Given the description of an element on the screen output the (x, y) to click on. 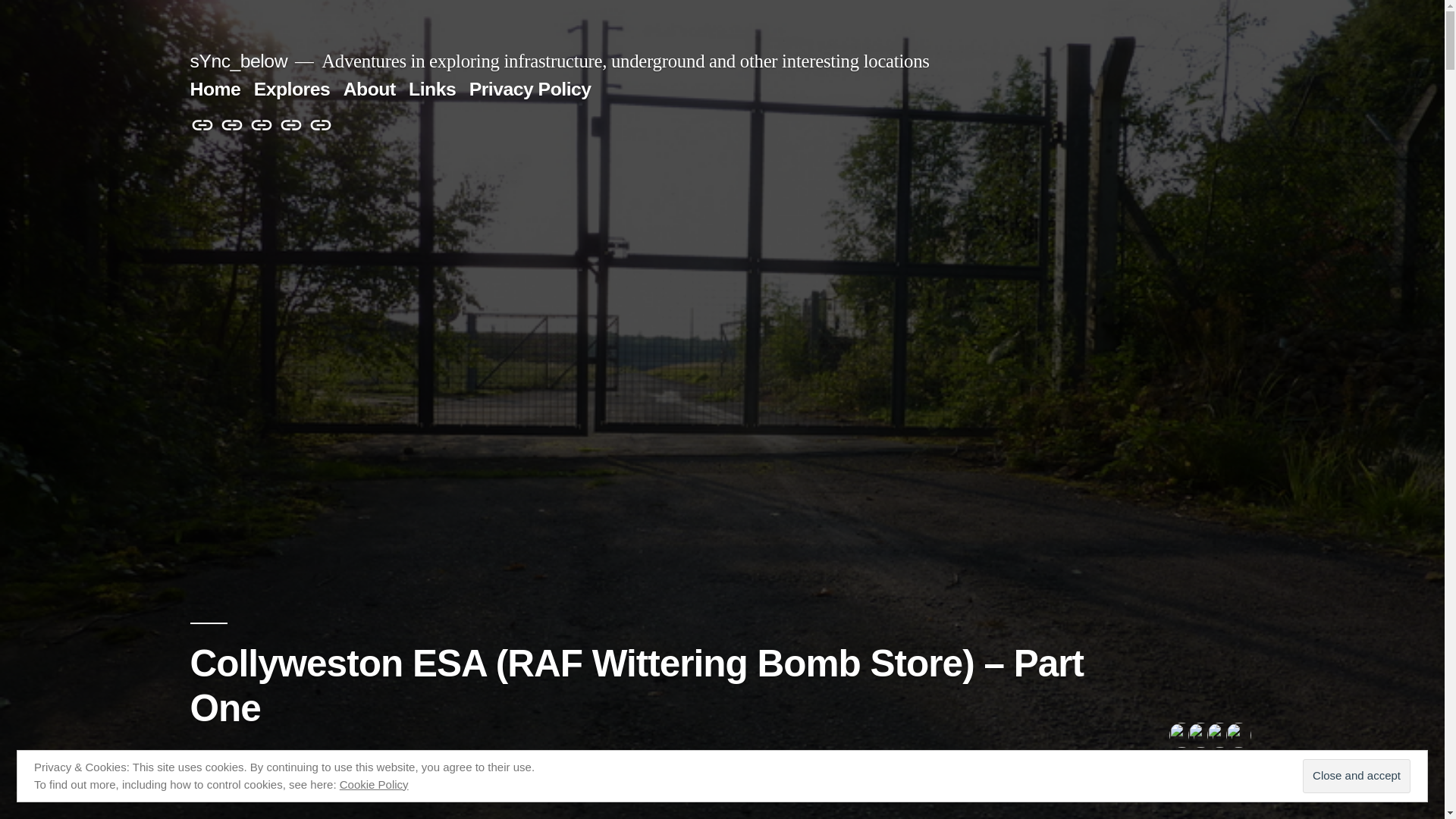
Home (214, 88)
Explores (231, 125)
Close and accept (1356, 776)
About (369, 88)
Home (201, 125)
Explores (291, 88)
About (260, 125)
sYnc (221, 757)
Links (432, 88)
Privacy Policy (320, 125)
Privacy Policy (529, 88)
August 18, 2010 (312, 757)
Links (290, 125)
